Given the description of an element on the screen output the (x, y) to click on. 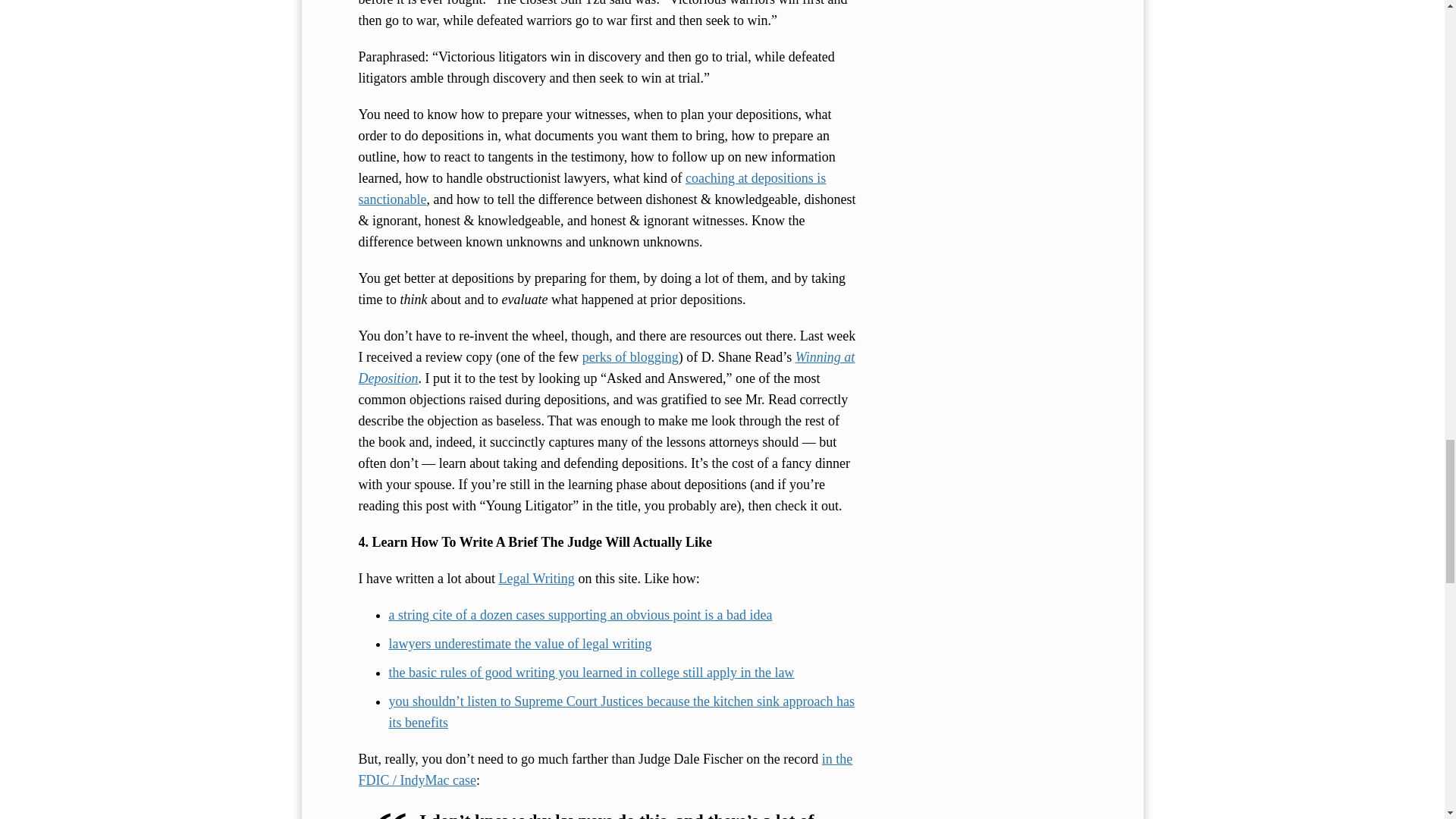
lawyers underestimate the value of legal writing (519, 643)
coaching at depositions is sanctionable (591, 188)
Winning at Deposition (606, 367)
Legal Writing (535, 578)
perks of blogging (630, 356)
